Given the description of an element on the screen output the (x, y) to click on. 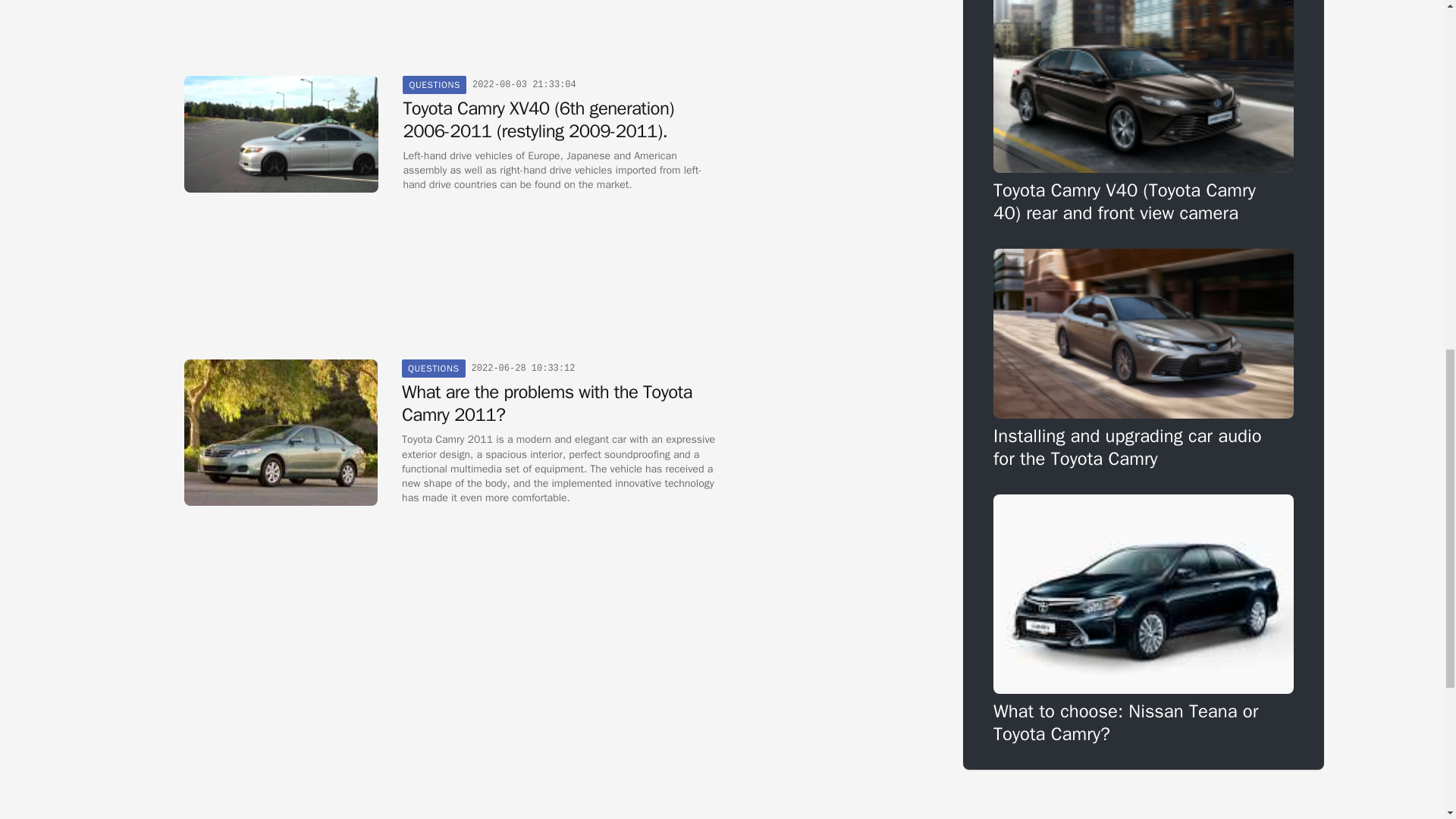
What to choose: Nissan Teana or Toyota Camry? (1143, 620)
Installing and upgrading car audio for the Toyota Camry (1143, 359)
What to choose: Nissan Teana or Toyota Camry? (1143, 620)
Installing and upgrading car audio for the Toyota Camry (1143, 359)
